Given the description of an element on the screen output the (x, y) to click on. 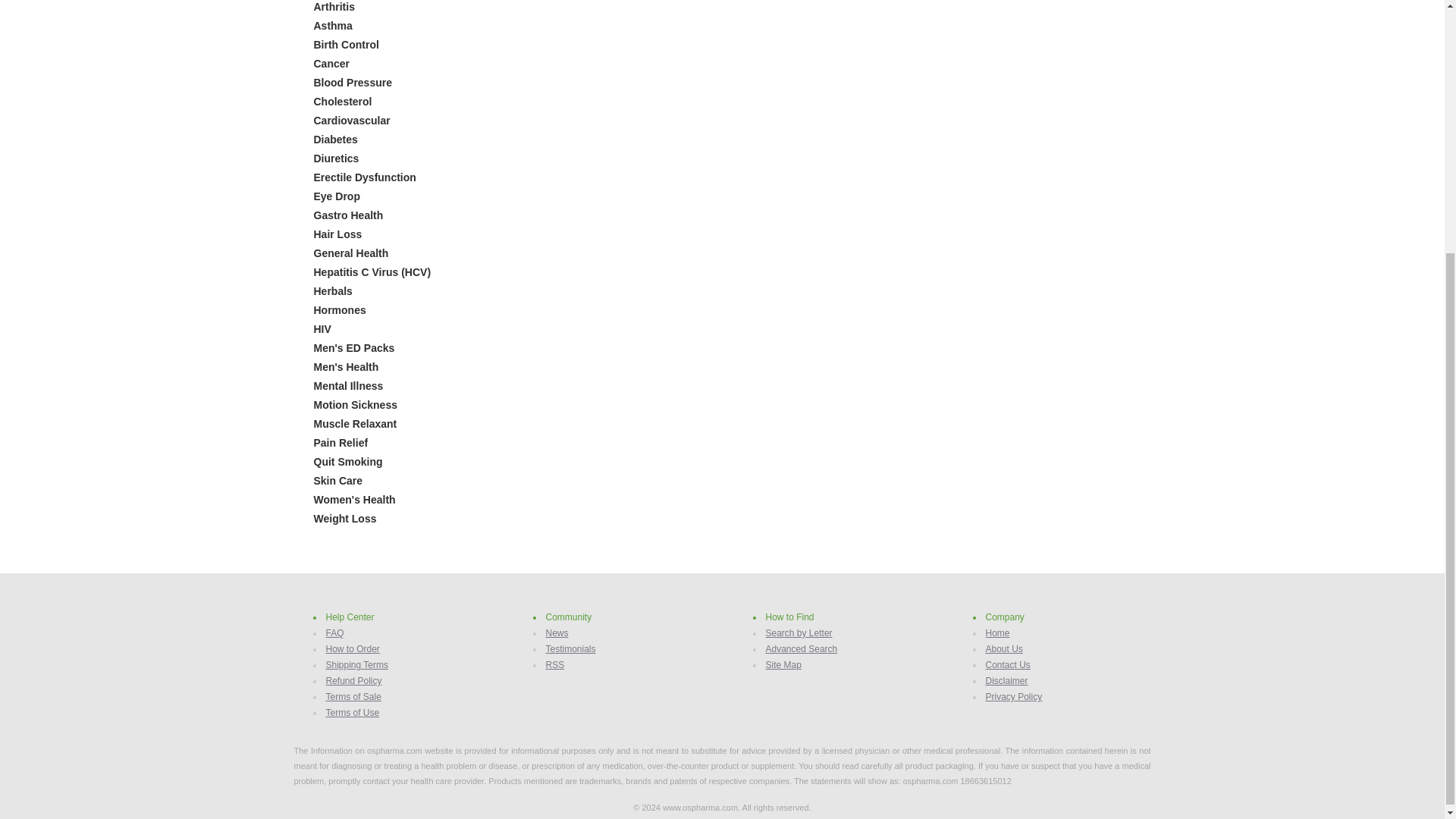
Cholesterol (343, 101)
Terms of Sale (353, 696)
Arthritis (334, 6)
Blood Pressure (352, 82)
Contact Us (1007, 665)
Search by Letter (798, 633)
About Us (1004, 648)
Privacy Policy (1013, 696)
Cancer (331, 63)
Refund Policy (353, 680)
